Given the description of an element on the screen output the (x, y) to click on. 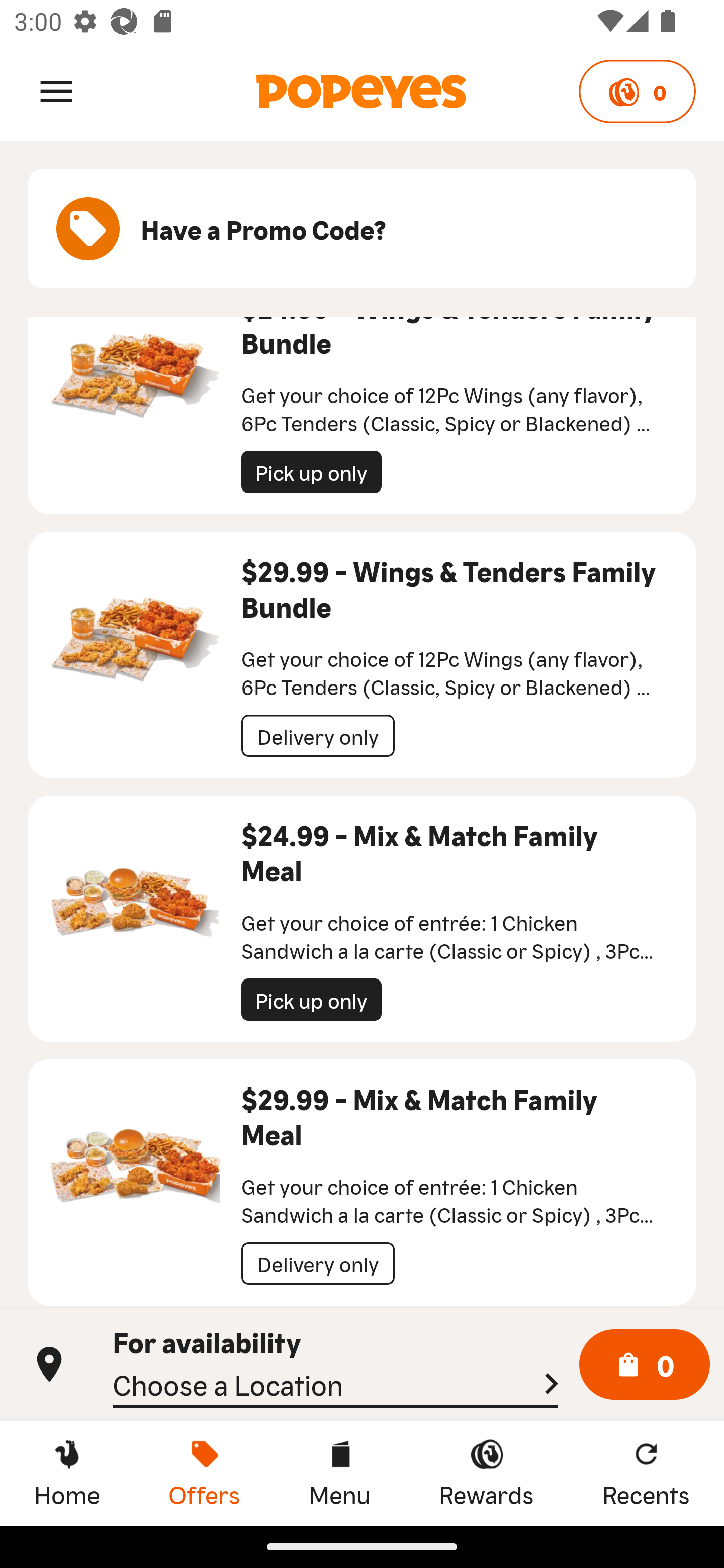
Menu  (56, 90)
0 Points 0 (636, 91)
Have a Promo Code?  Have a Promo Code? (361, 228)
0 Cart total  0 (644, 1364)
Home Home Home (66, 1472)
Offers, current page Offers Offers, current page (203, 1472)
Menu Menu Menu (339, 1472)
Rewards Rewards Rewards (486, 1472)
Recents Recents Recents (646, 1472)
